Given the description of an element on the screen output the (x, y) to click on. 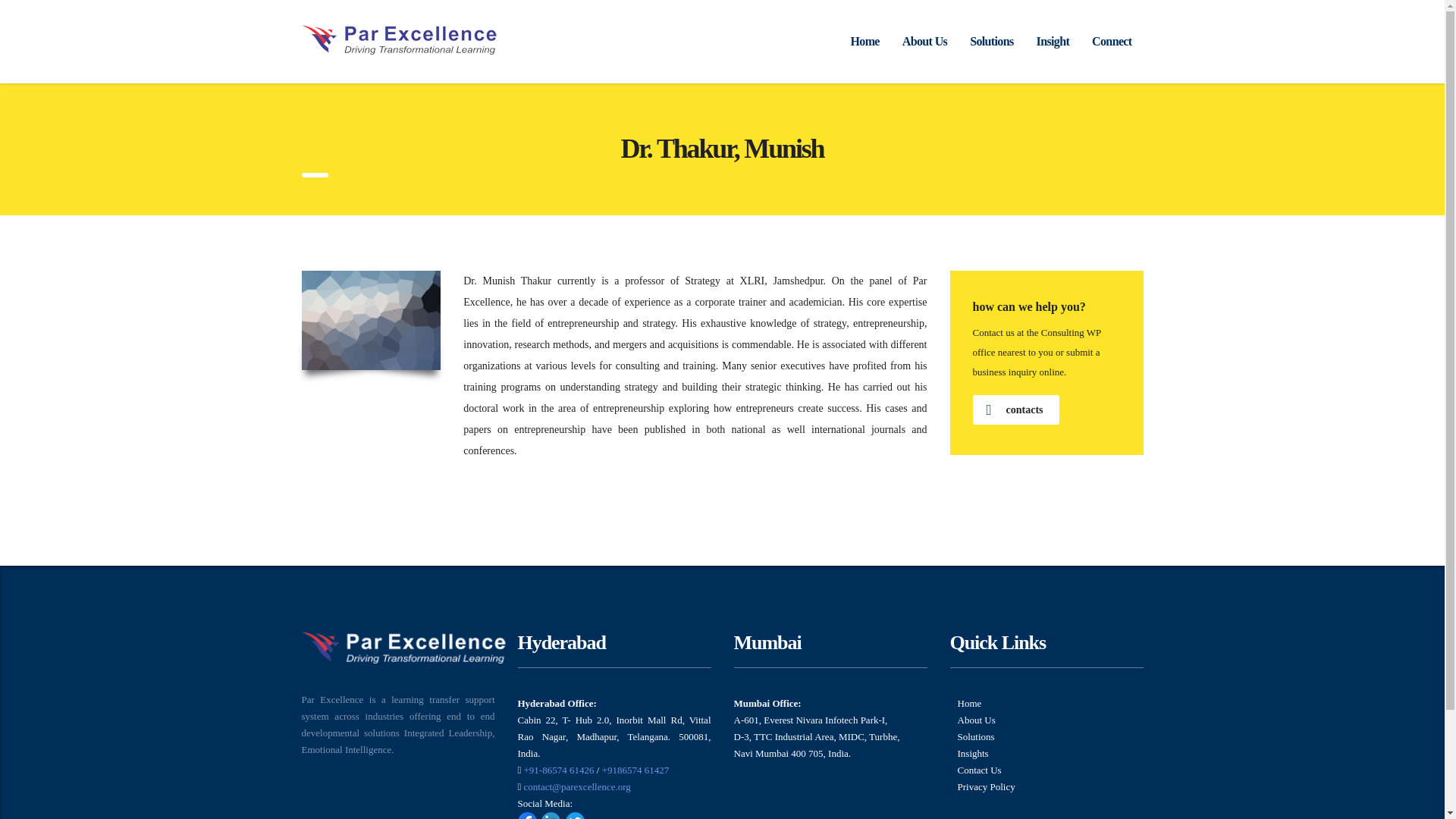
Insight (1053, 41)
About Us (924, 41)
Home (968, 703)
Home (863, 41)
Connect (1111, 41)
contacts (1015, 409)
Solutions (991, 41)
